Given the description of an element on the screen output the (x, y) to click on. 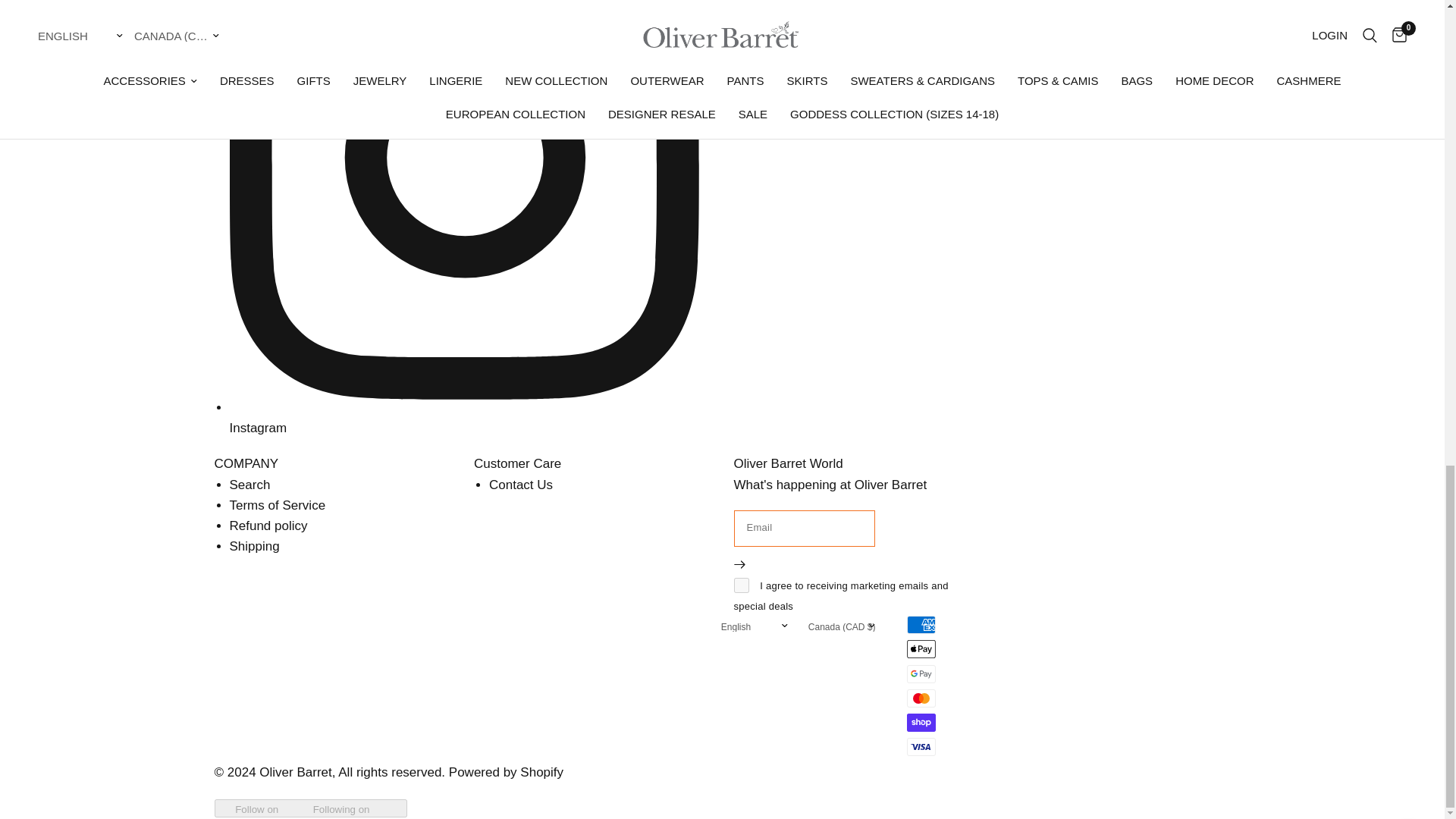
Mastercard (921, 698)
Visa (921, 746)
Shop Pay (921, 722)
on (741, 585)
American Express (921, 624)
Google Pay (921, 674)
Apple Pay (921, 648)
